Given the description of an element on the screen output the (x, y) to click on. 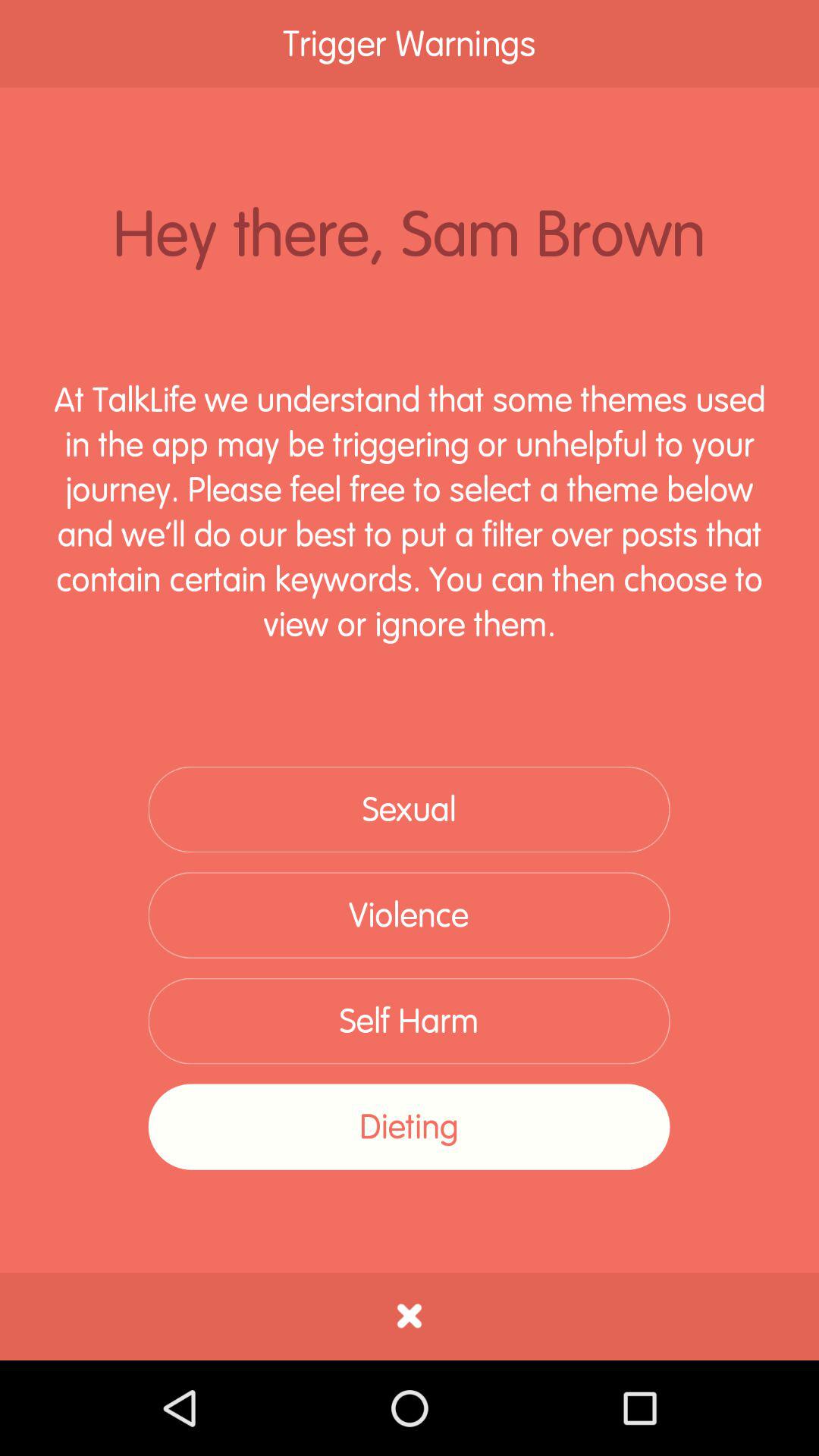
jump until self harm item (408, 1021)
